Given the description of an element on the screen output the (x, y) to click on. 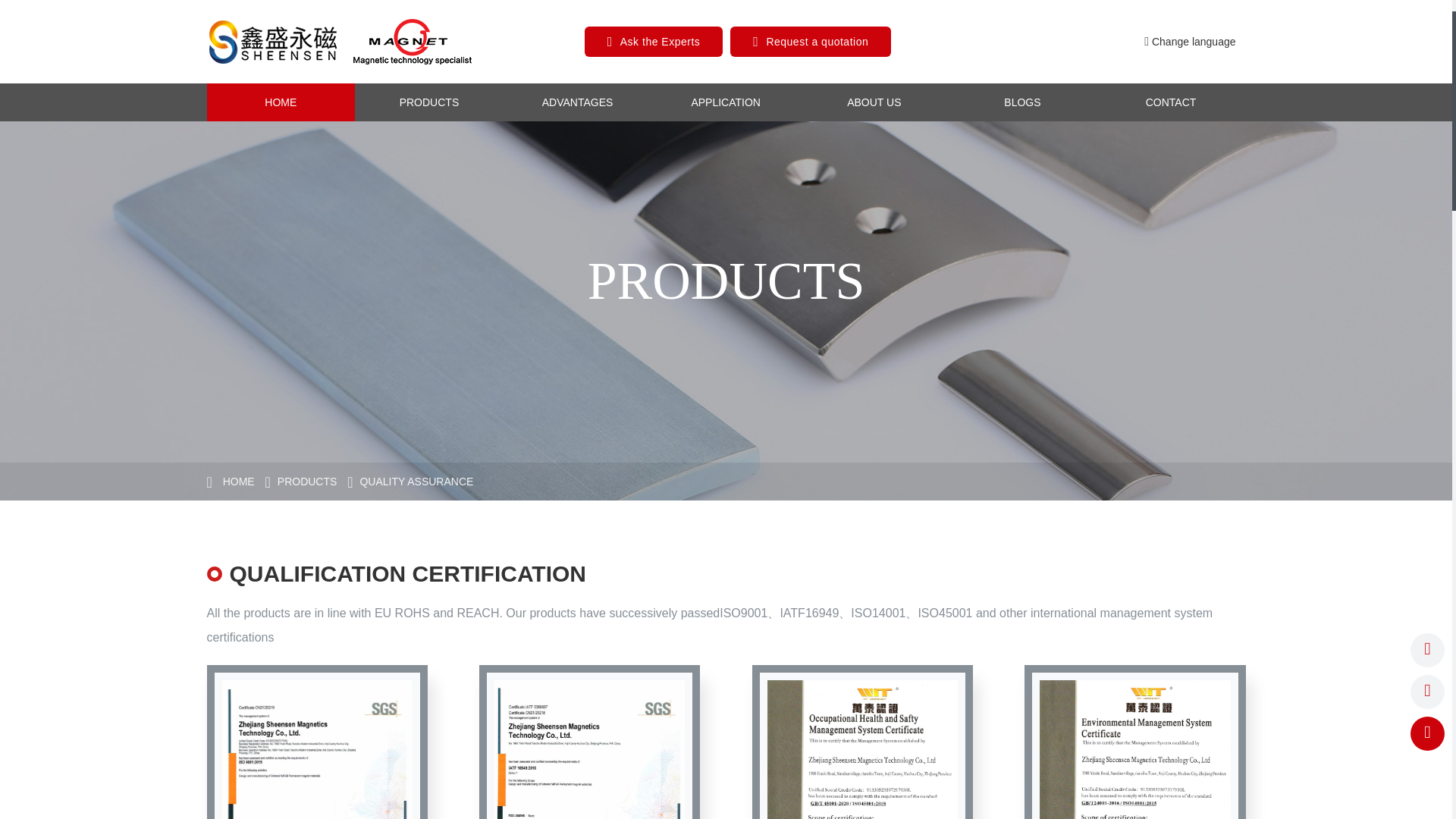
PRODUCTS (429, 102)
HOME (280, 102)
Request a quotation (816, 41)
ABOUT US (874, 102)
BLOGS (1023, 102)
Ask the Experts (660, 41)
APPLICATION (724, 102)
ADVANTAGES (577, 102)
CONTACT (1170, 102)
